Given the description of an element on the screen output the (x, y) to click on. 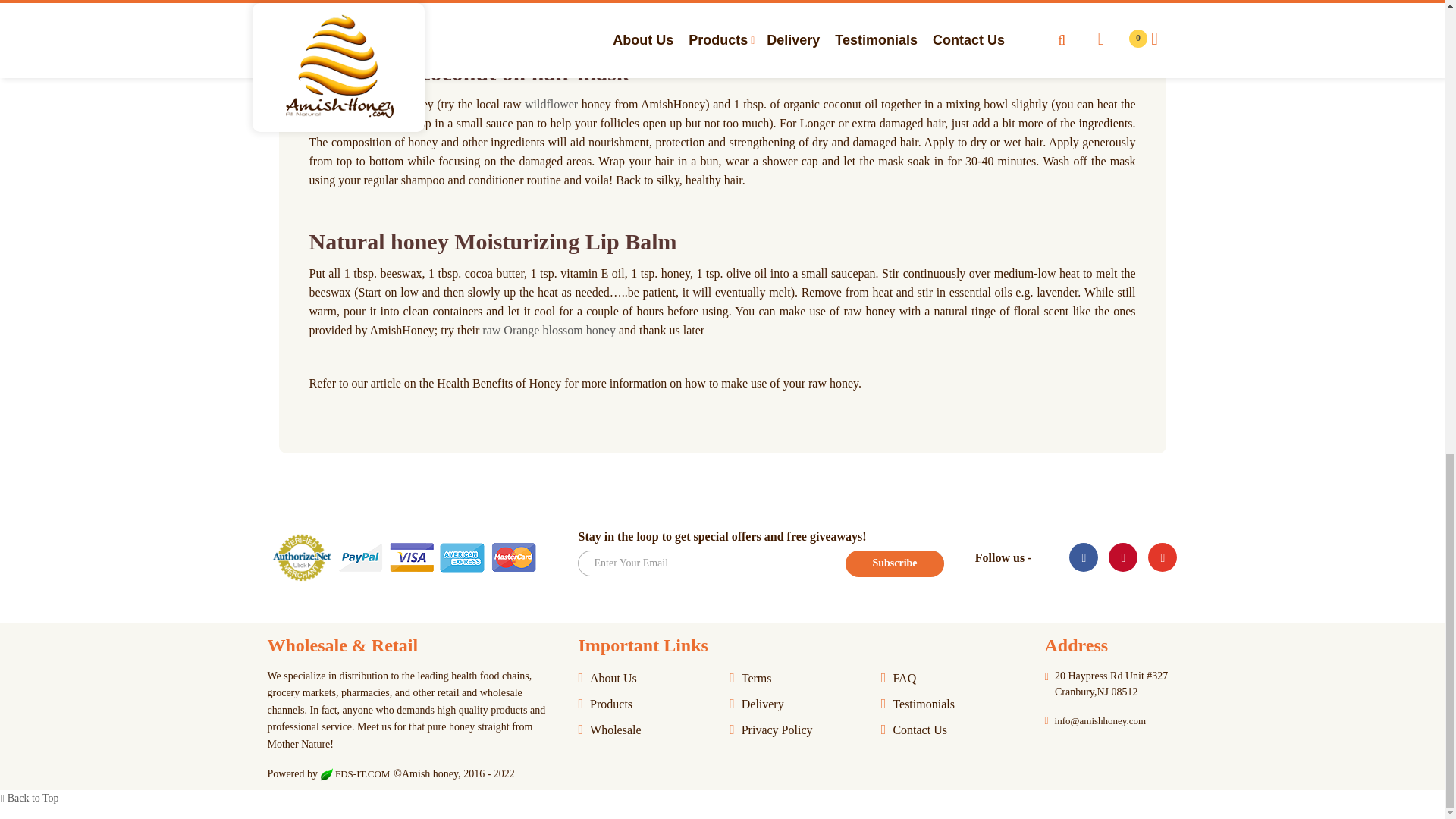
Wholesale (648, 732)
Products (648, 706)
About Us (648, 680)
raw Orange blossom honey (548, 329)
Subscribe (894, 563)
Delivery (799, 706)
Terms (799, 680)
wildflower (551, 103)
Privacy Policy (799, 732)
